Given the description of an element on the screen output the (x, y) to click on. 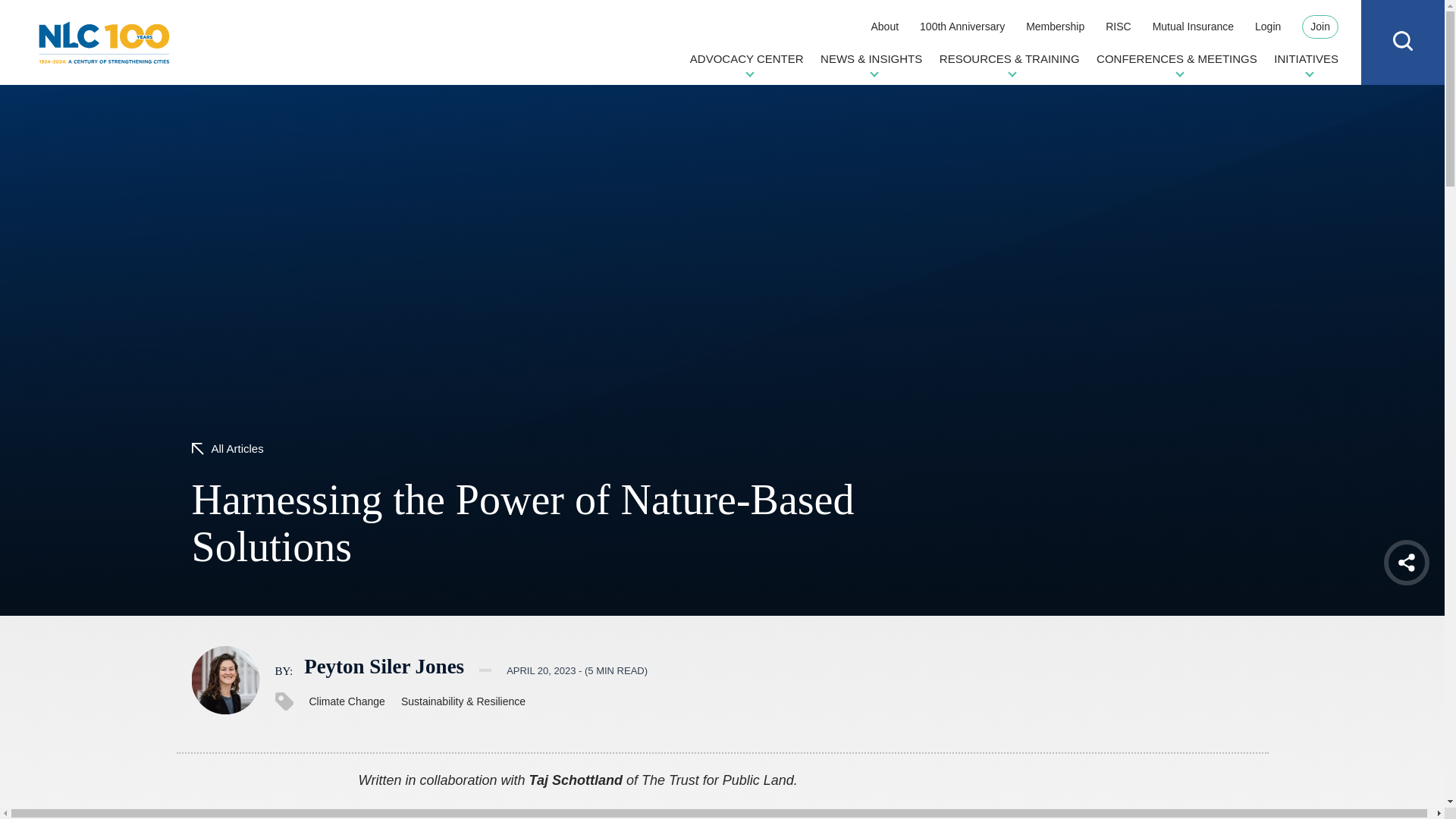
Membership (1055, 26)
RISC (1118, 26)
Login (1268, 26)
Mutual Insurance (1193, 26)
Open search (1402, 40)
ADVOCACY CENTER (746, 63)
Join (1319, 26)
100th Anniversary (962, 26)
About (884, 26)
INITIATIVES (1306, 63)
